Given the description of an element on the screen output the (x, y) to click on. 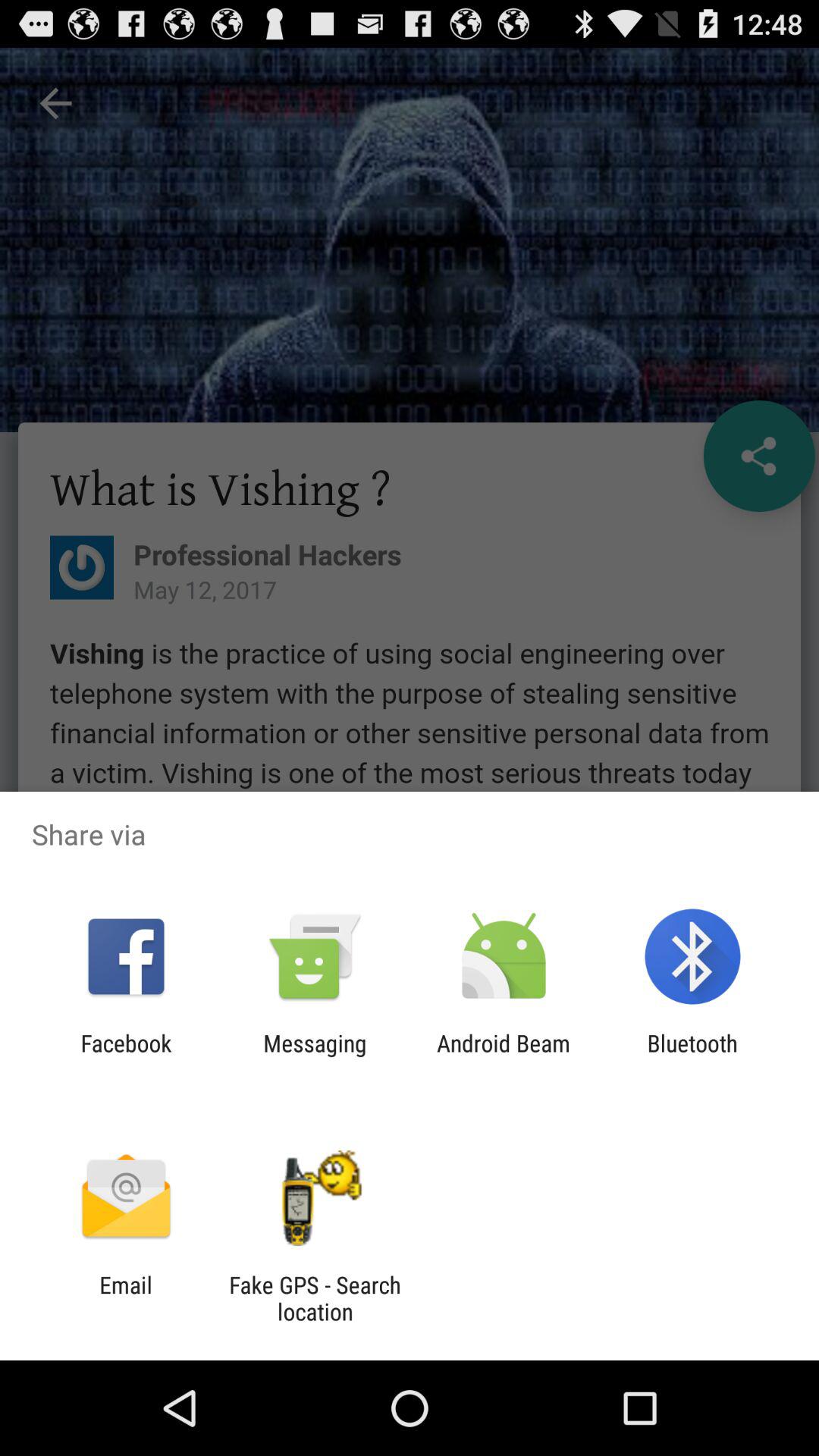
tap bluetooth at the bottom right corner (692, 1056)
